Given the description of an element on the screen output the (x, y) to click on. 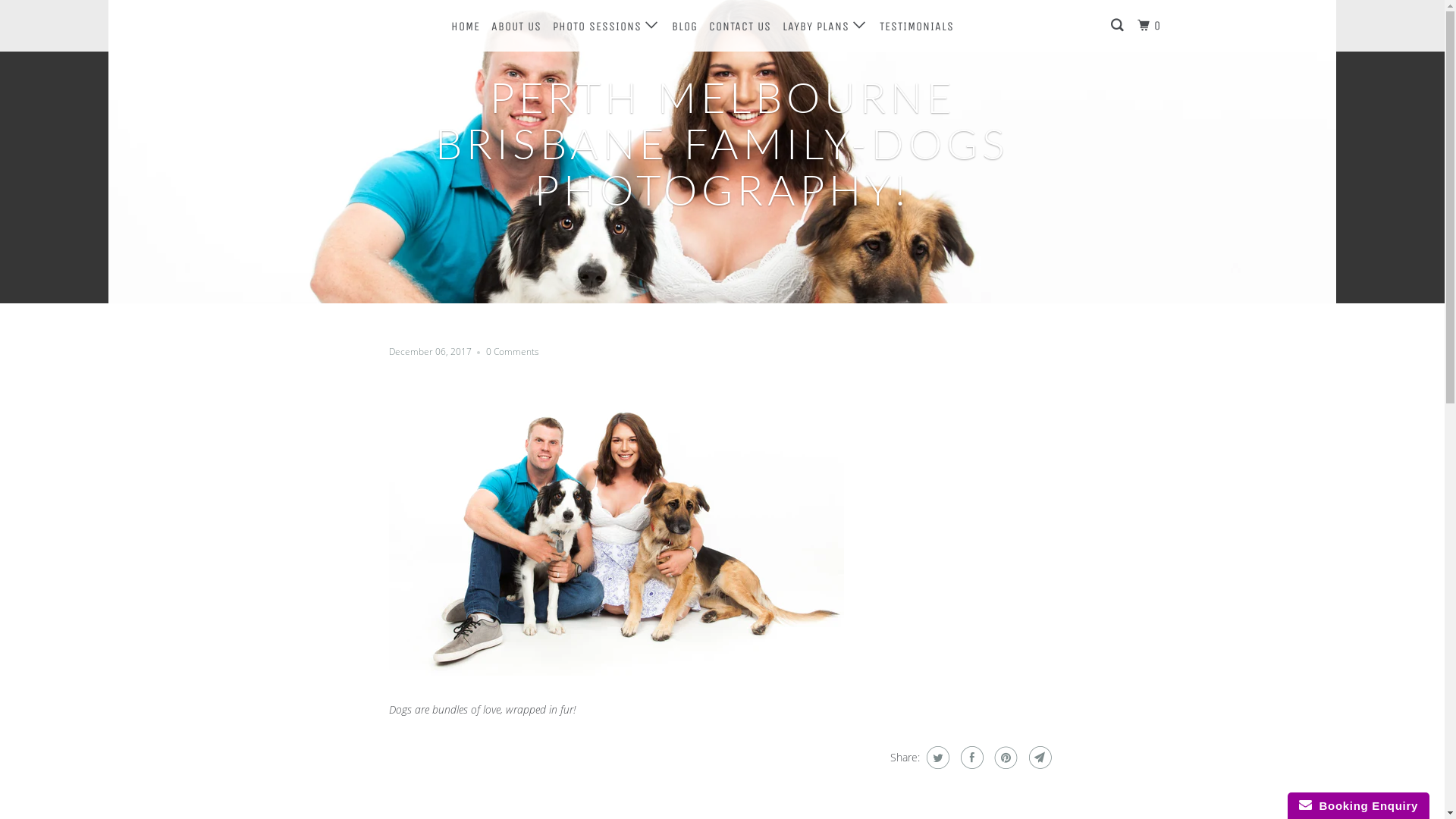
Share this on Facebook Element type: hover (970, 757)
TESTIMONIALS Element type: text (916, 26)
ABOUT US Element type: text (516, 26)
Share this on Pinterest Element type: hover (1003, 757)
Exclusive Photography Perth Element type: hover (351, 25)
BLOG Element type: text (684, 26)
PHOTO SESSIONS Element type: text (605, 25)
Search Element type: hover (1118, 25)
CONTACT US Element type: text (740, 26)
0 Comments Element type: text (511, 351)
HOME Element type: text (464, 26)
Email this to a friend Element type: hover (1038, 757)
0 Element type: text (1150, 25)
LAYBY PLANS Element type: text (825, 25)
Share this on Twitter Element type: hover (935, 757)
